Given the description of an element on the screen output the (x, y) to click on. 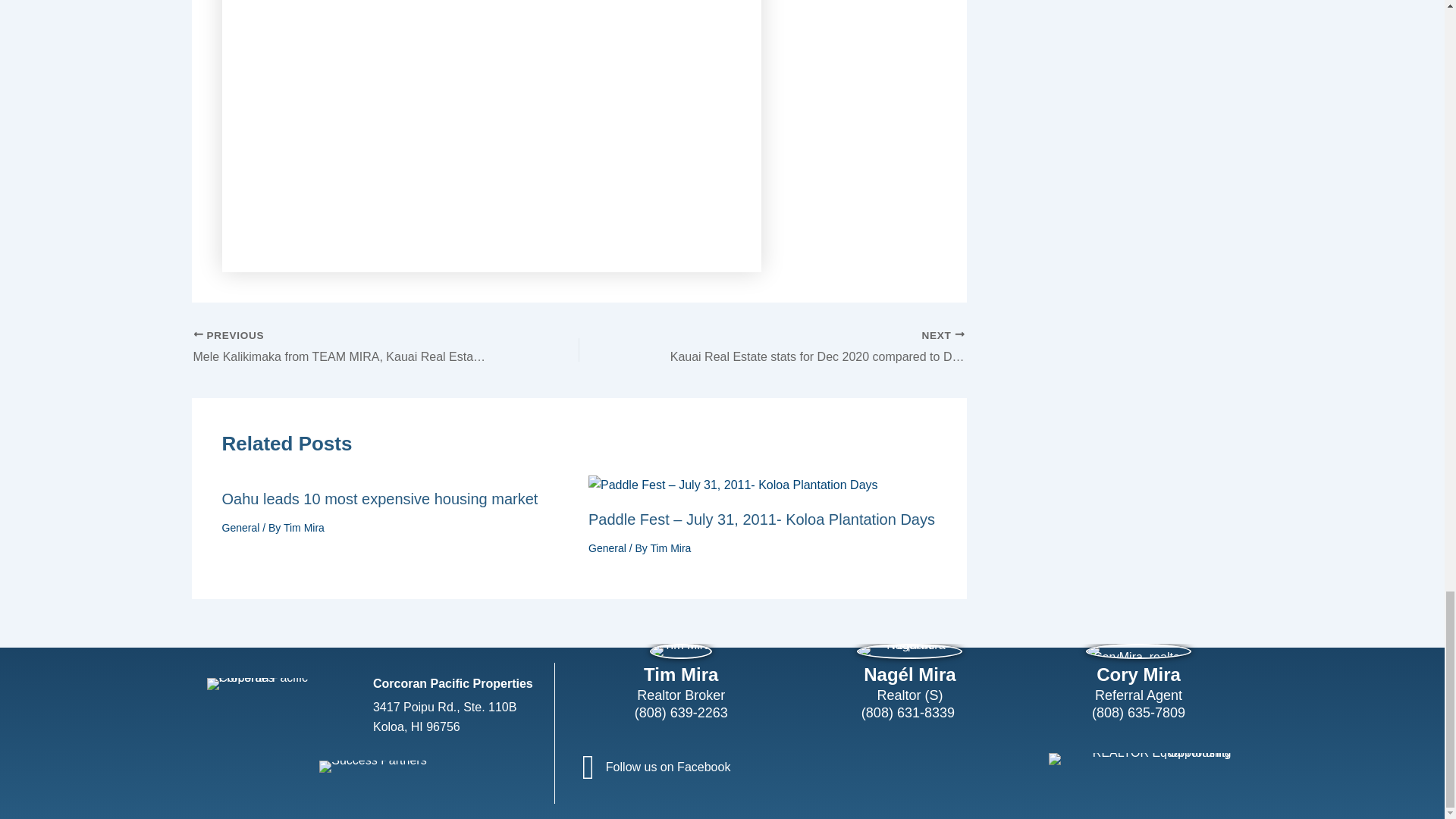
REALTOR Equal Housing Opportunity (1139, 758)
Success Partners (372, 766)
View all posts by Tim Mira (669, 548)
View all posts by Tim Mira (303, 527)
Nagel Mira square (909, 651)
Kauai Real Estate stats for Dec 2020 compared to Dec 2019 (810, 347)
Corcoran Pacific Properties (277, 684)
Tim Mira (680, 651)
